Given the description of an element on the screen output the (x, y) to click on. 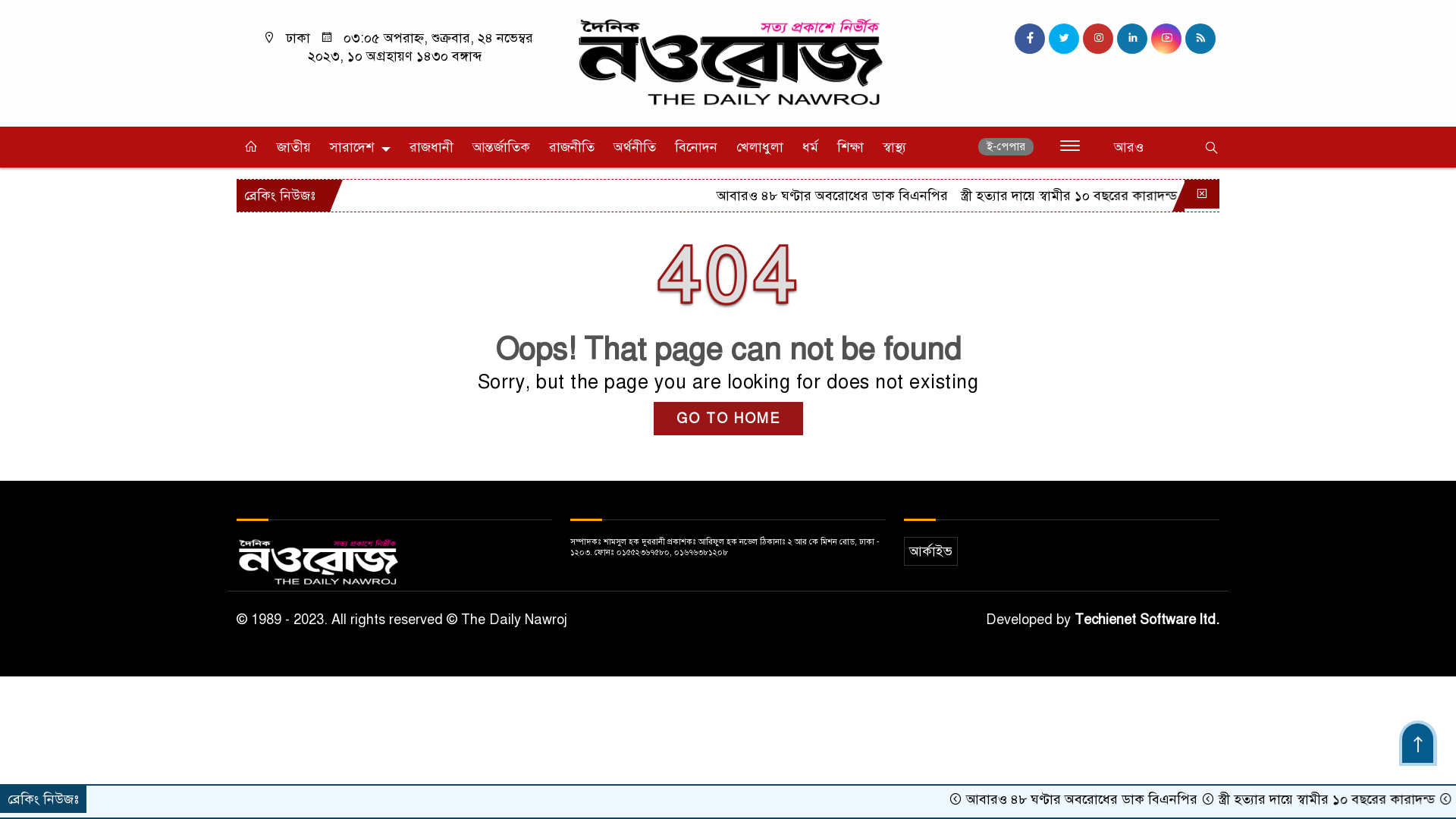
instagram Element type: hover (1097, 38)
RSS Element type: hover (1200, 38)
The Daily Nawroj Element type: hover (727, 61)
twitter Element type: hover (1063, 38)
The Daily Nawroj Element type: hover (727, 63)
Click to close Element type: hover (1201, 193)
Techienet Software ltd. Element type: text (1146, 619)
GO TO HOME Element type: text (728, 418)
youtube Element type: hover (1166, 38)
facebook Element type: hover (1029, 38)
Search Element type: text (1166, 148)
linkedin Element type: hover (1132, 38)
